Given the description of an element on the screen output the (x, y) to click on. 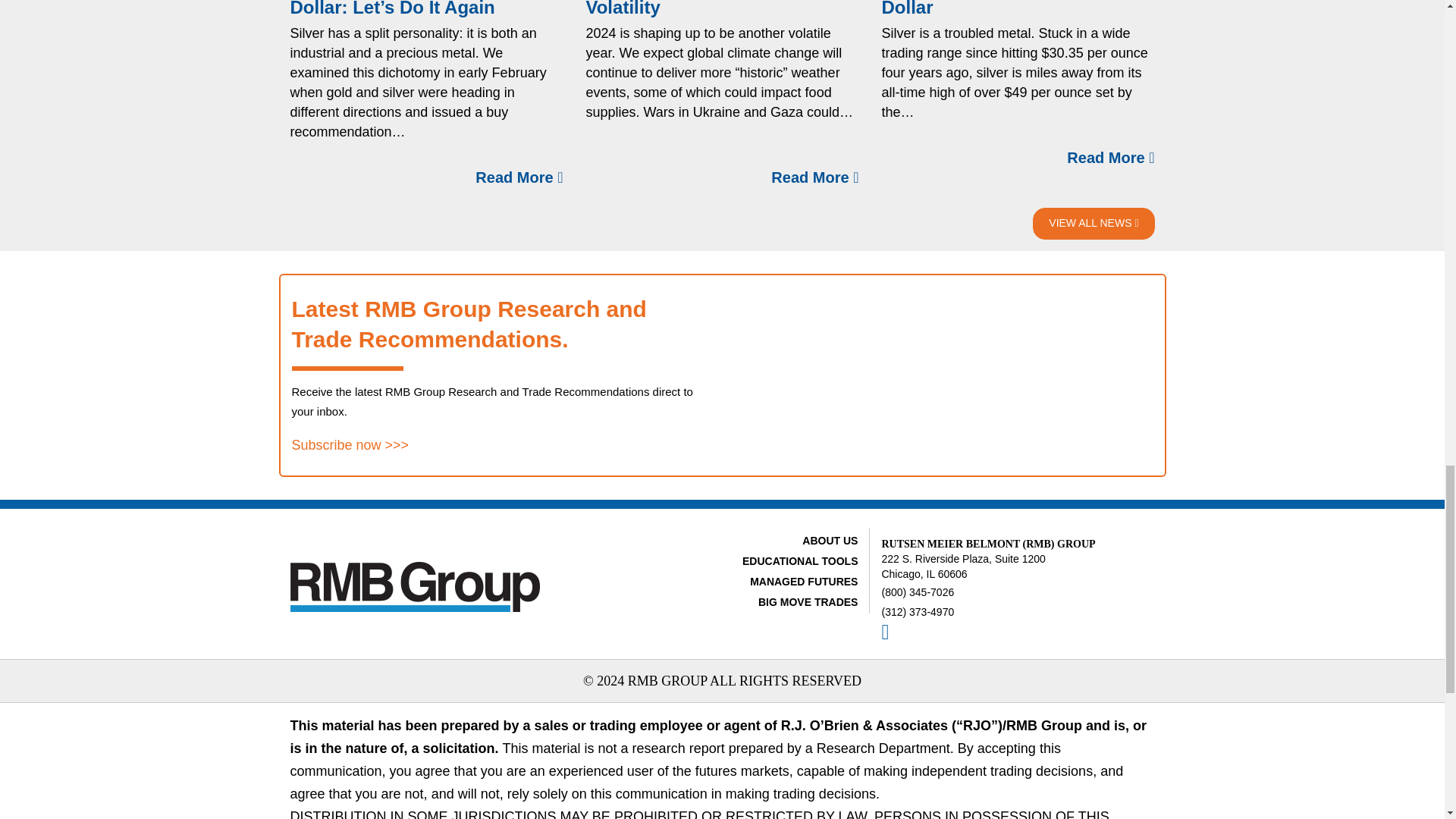
Read More (519, 177)
Read More (1110, 157)
Form 0 (943, 375)
Read More (815, 177)
ABOUT US (829, 540)
Silver for Pennies-on-the-Dollar (991, 8)
Prepare Your Portfolio for Volatility (696, 8)
